Given the description of an element on the screen output the (x, y) to click on. 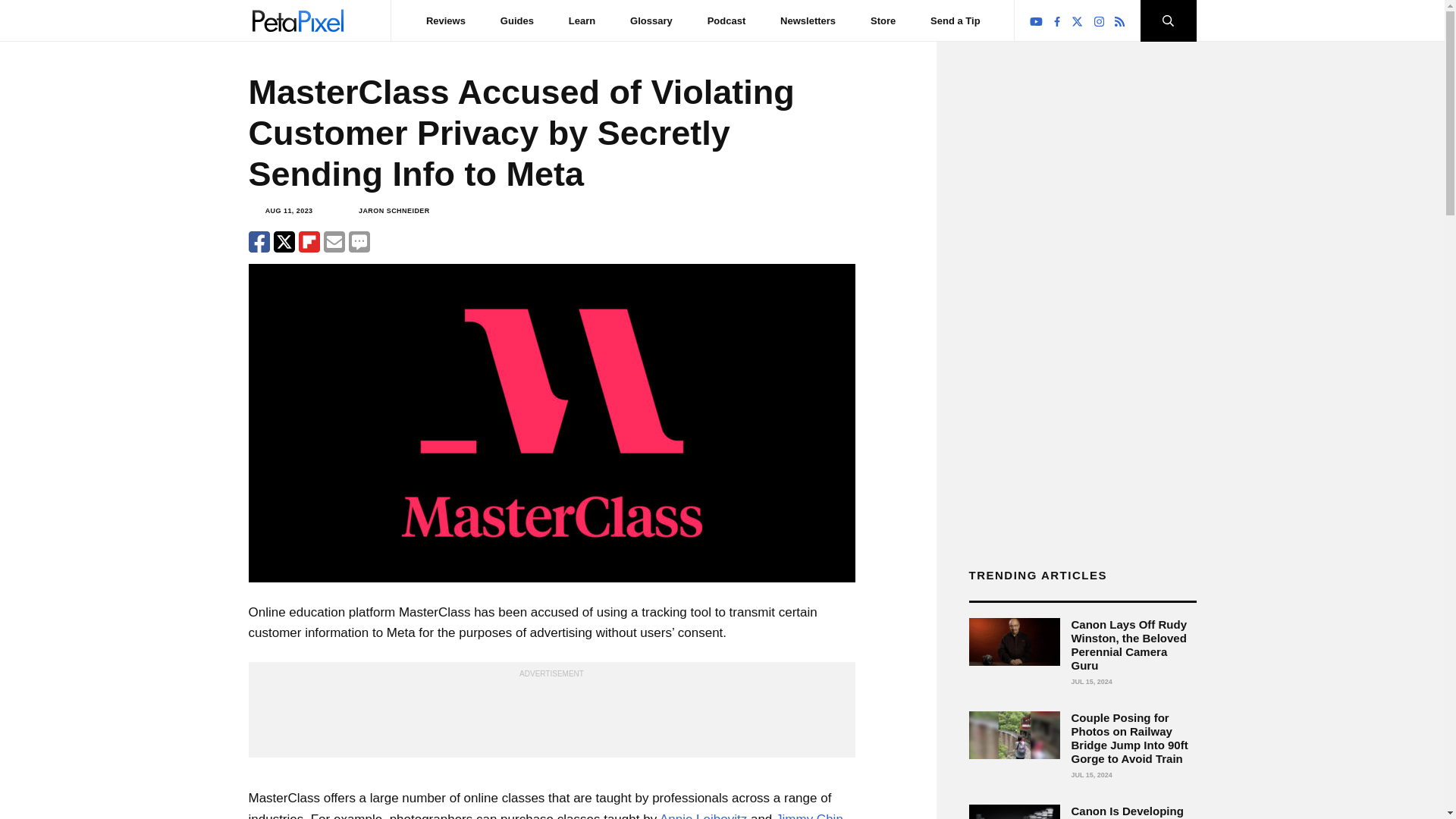
Follow PetaPixel on YouTube (1036, 20)
Follow PetaPixel on X (1076, 20)
Email this article (333, 241)
Guides (517, 20)
Newsletters (807, 20)
RSS Feed (1119, 20)
PetaPixel (296, 20)
Store (882, 20)
Share on X (283, 241)
Podcast (726, 20)
Follow PetaPixel on Instagram (1098, 21)
Follow PetaPixel on Instagram (1099, 20)
Follow PetaPixel on Facebook (1056, 20)
Reviews (445, 20)
Jimmy Chin (809, 815)
